Given the description of an element on the screen output the (x, y) to click on. 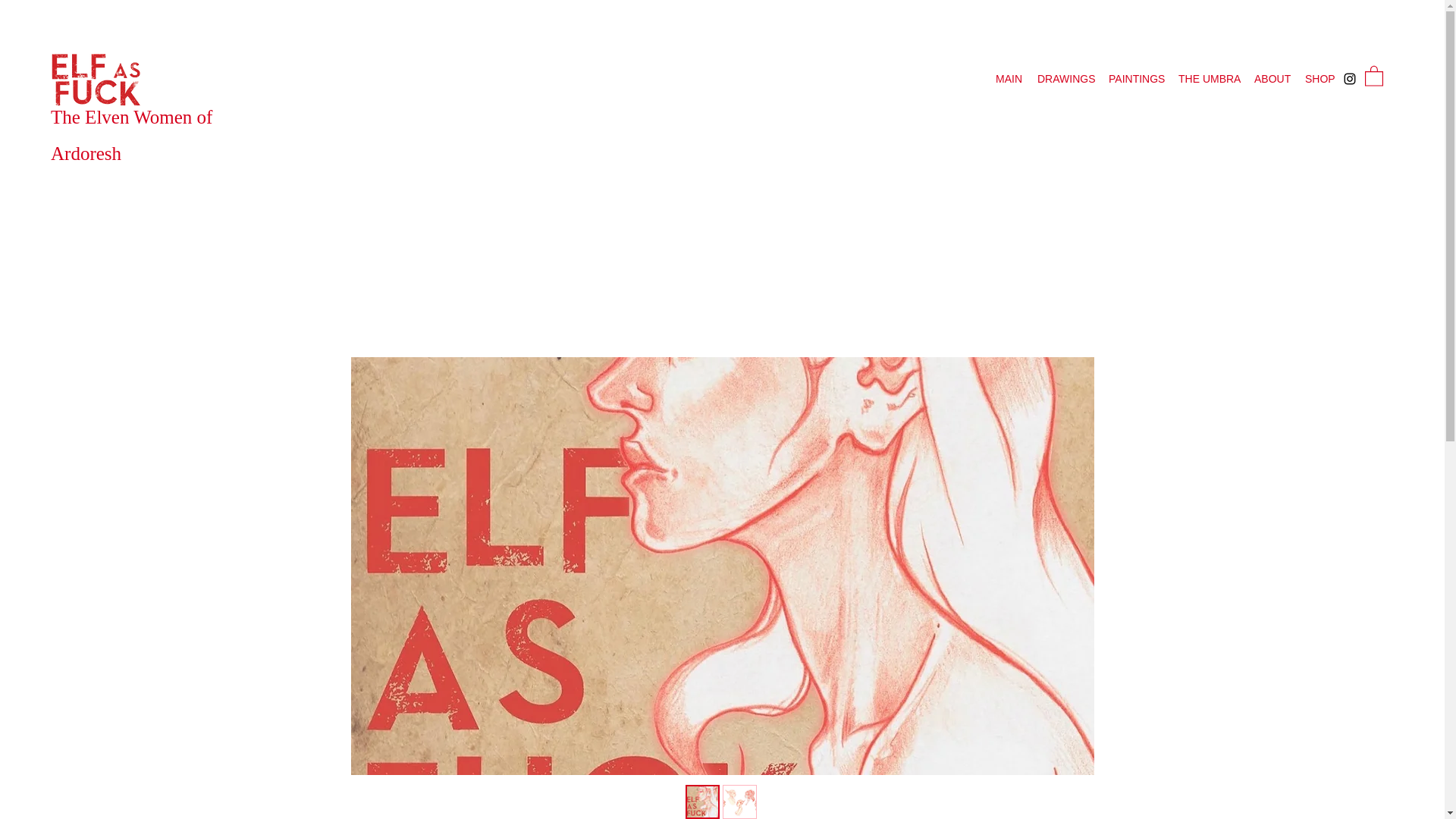
SHOP (1319, 78)
PAINTINGS (1135, 78)
THE UMBRA (1208, 78)
MAIN (1008, 78)
DRAWINGS (1064, 78)
ABOUT (1271, 78)
